Given the description of an element on the screen output the (x, y) to click on. 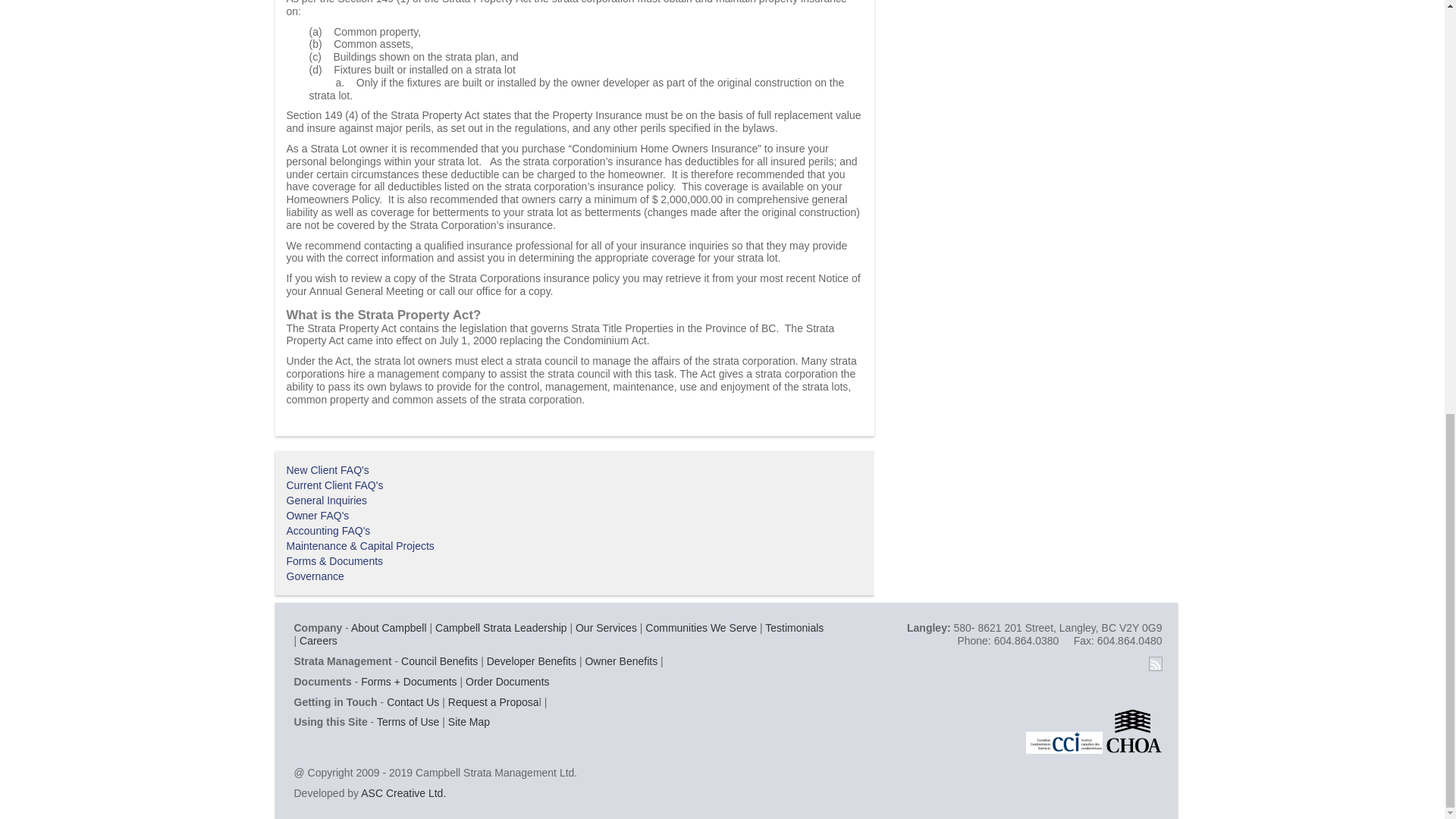
strata management (501, 627)
CCI (1064, 729)
Welcome to Campbell Strata Management (388, 627)
ASC Creative Ltd (403, 793)
CHOA (1133, 729)
